Given the description of an element on the screen output the (x, y) to click on. 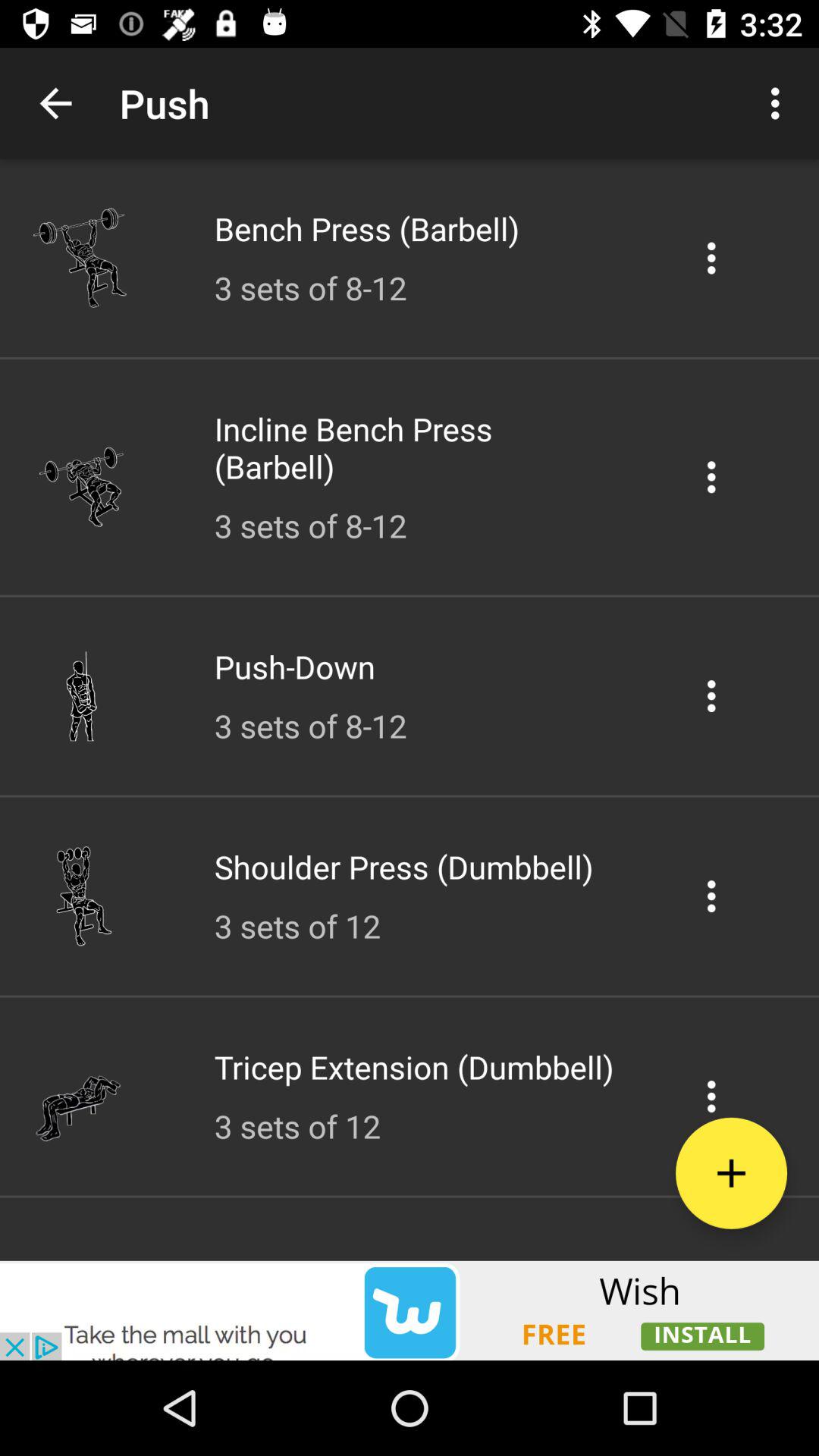
select the add icon (731, 1173)
click on the sixth image (81, 1095)
click on the icon in the 2nd list (711, 476)
click on the icon preceding the pushdown (81, 695)
click on the options for bench press barbell (711, 258)
